Given the description of an element on the screen output the (x, y) to click on. 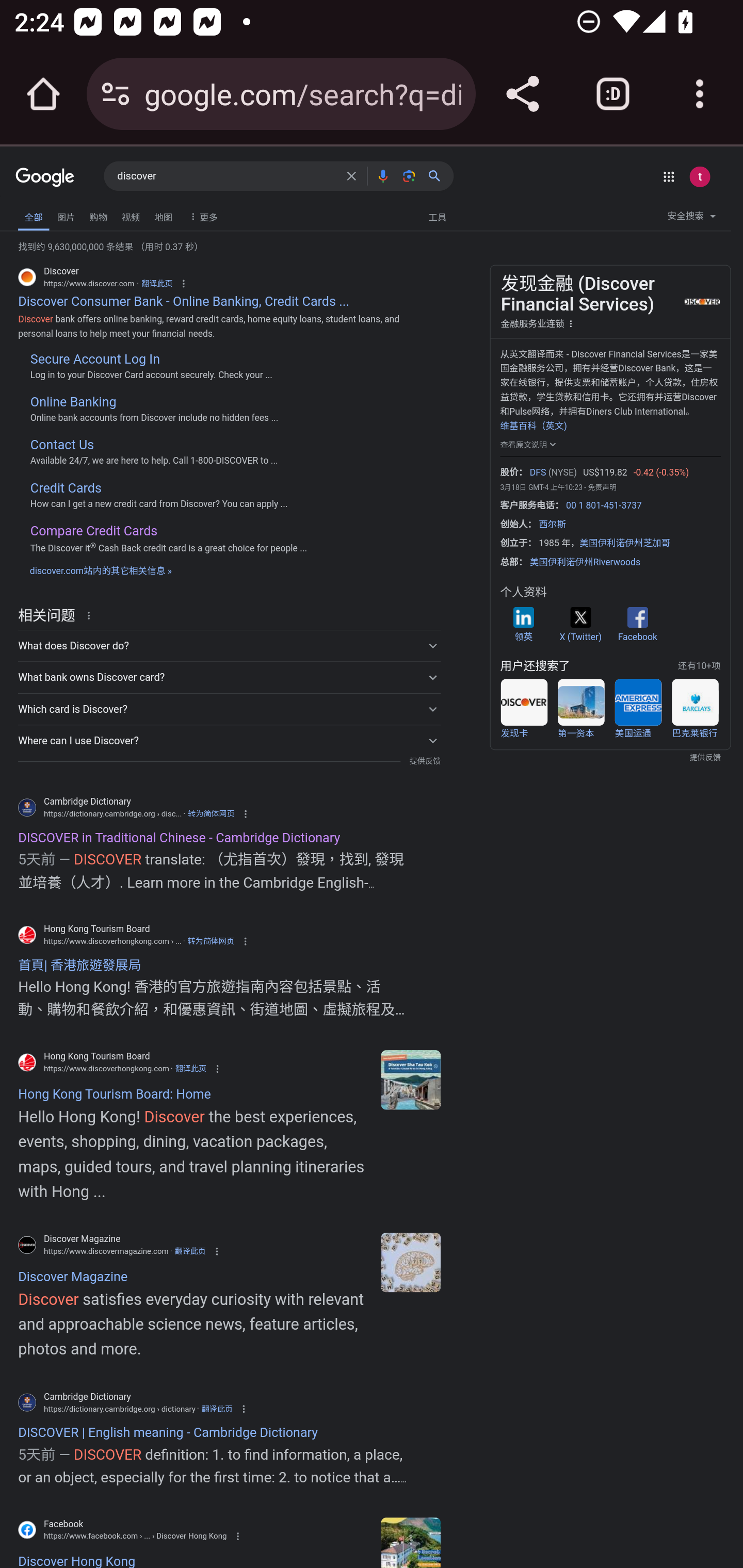
Open the home page (43, 93)
Connection is secure (115, 93)
Share (522, 93)
Switch or close tabs (612, 93)
Customize and control Google Chrome (699, 93)
清除 (351, 175)
按语音搜索 (382, 175)
按图搜索 (408, 175)
搜索 (438, 175)
Google 应用 (668, 176)
Google 账号： test appium (testappium002@gmail.com) (699, 176)
Google (45, 178)
discover (225, 176)
无障碍功能反馈 (41, 212)
图片 (65, 215)
购物 (98, 215)
视频 (131, 215)
地图 (163, 215)
更多 (201, 215)
安全搜索 (691, 218)
工具 (437, 215)
翻译此页 (157, 283)
Secure Account Log In (94, 358)
Online Banking (72, 401)
Contact Us (61, 445)
Credit Cards (65, 487)
Compare Credit Cards (93, 530)
discover.com站内的其它相关信息 » (100, 569)
关于这条结果的详细信息 (92, 614)
What does Discover do? (228, 645)
What bank owns Discover card? (228, 677)
Which card is Discover? (228, 708)
Where can I use Discover? (228, 740)
提供反馈 (424, 760)
转为简体网页 (210, 813)
转为简体网页 (210, 940)
www.discoverhongkong (410, 1079)
翻译此页 (190, 1068)
www.discovermagazine (410, 1262)
翻译此页 (189, 1250)
翻译此页 (216, 1408)
DiscoverHongKong (410, 1542)
